Given the description of an element on the screen output the (x, y) to click on. 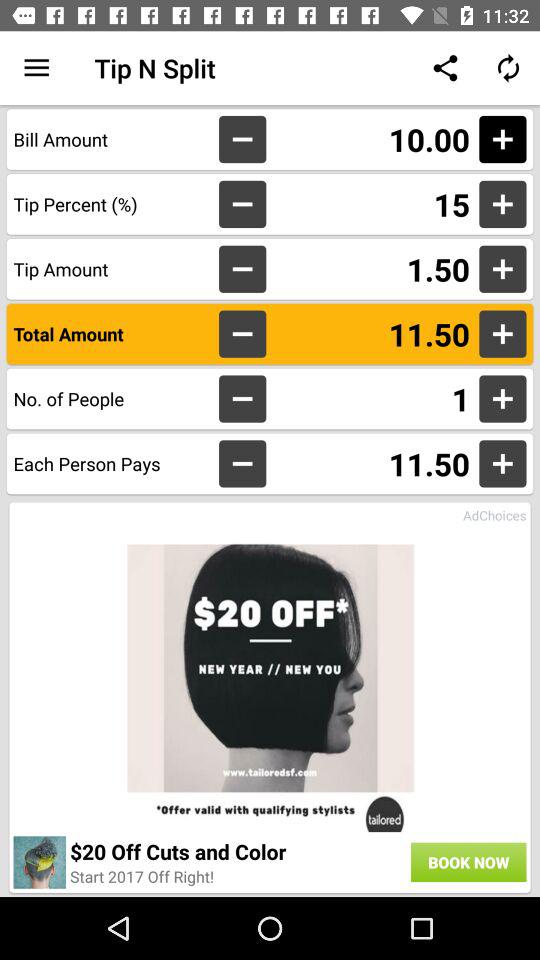
scroll to the start 2017 off icon (142, 876)
